Given the description of an element on the screen output the (x, y) to click on. 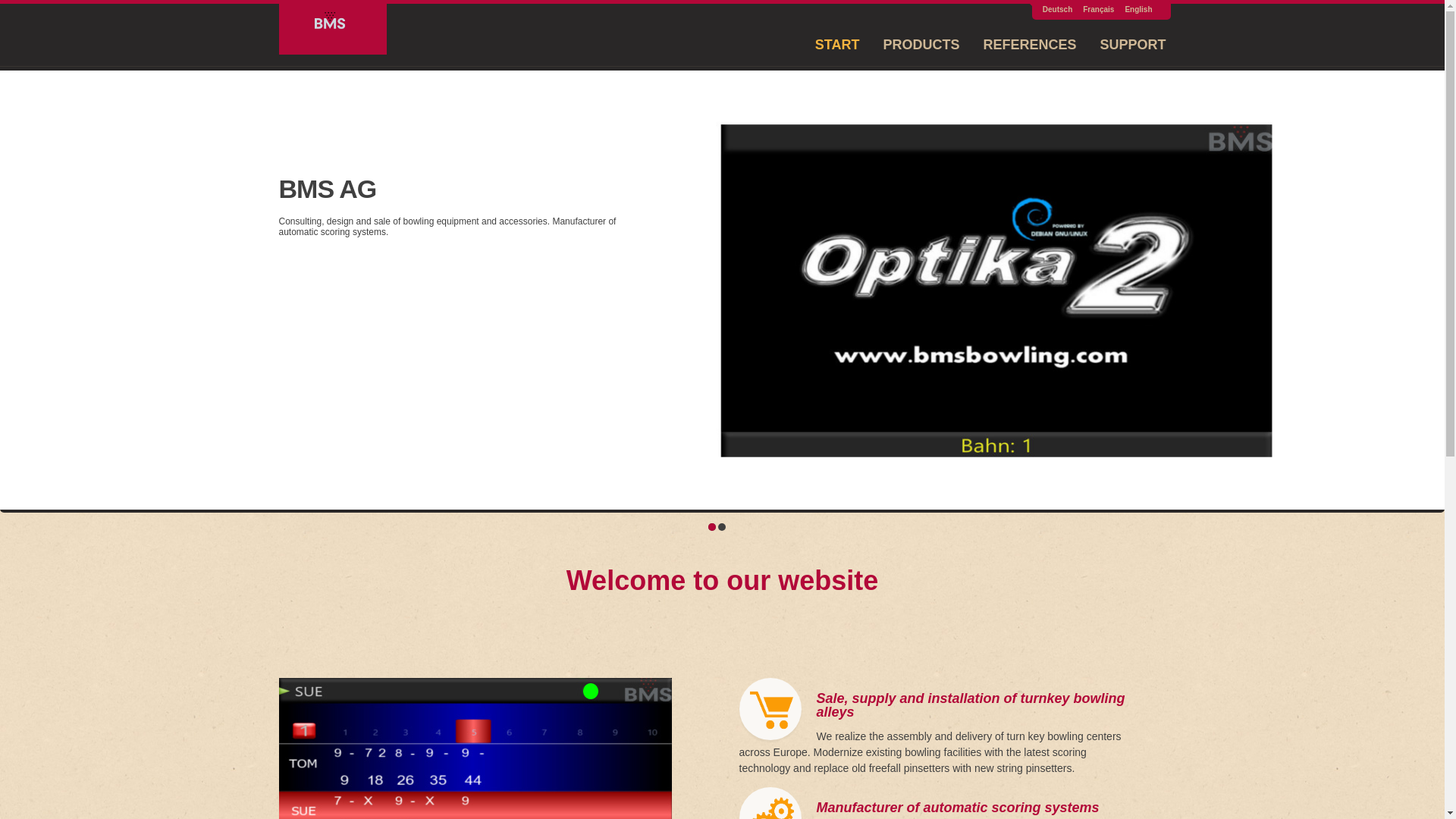
Manufacturer of automatic scoring systems Element type: text (956, 807)
Sale, supply and installation of turnkey bowling alleys Element type: text (969, 704)
Deutsch Element type: text (1057, 9)
PRODUCTS Element type: text (920, 44)
REFERENCES Element type: text (1029, 44)
English Element type: text (1137, 9)
START Element type: text (837, 44)
SUPPORT Element type: text (1132, 44)
